Given the description of an element on the screen output the (x, y) to click on. 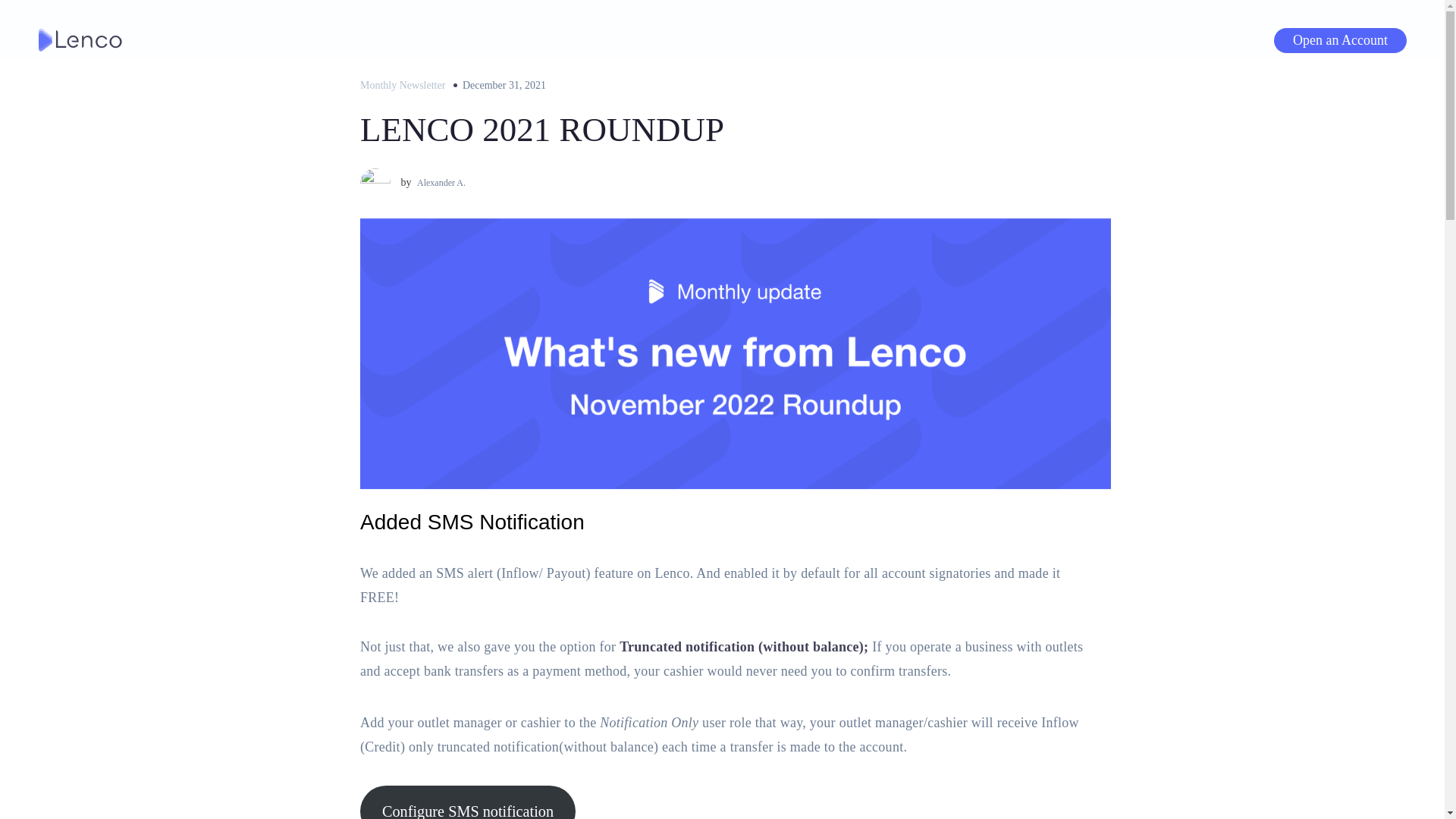
Open an Account (1339, 38)
December 31, 2021 (501, 84)
Alexander A. (439, 182)
Configure SMS notification (467, 802)
Open an Account (1340, 39)
Monthly Newsletter (402, 84)
Monthly Newsletter (402, 84)
